Given the description of an element on the screen output the (x, y) to click on. 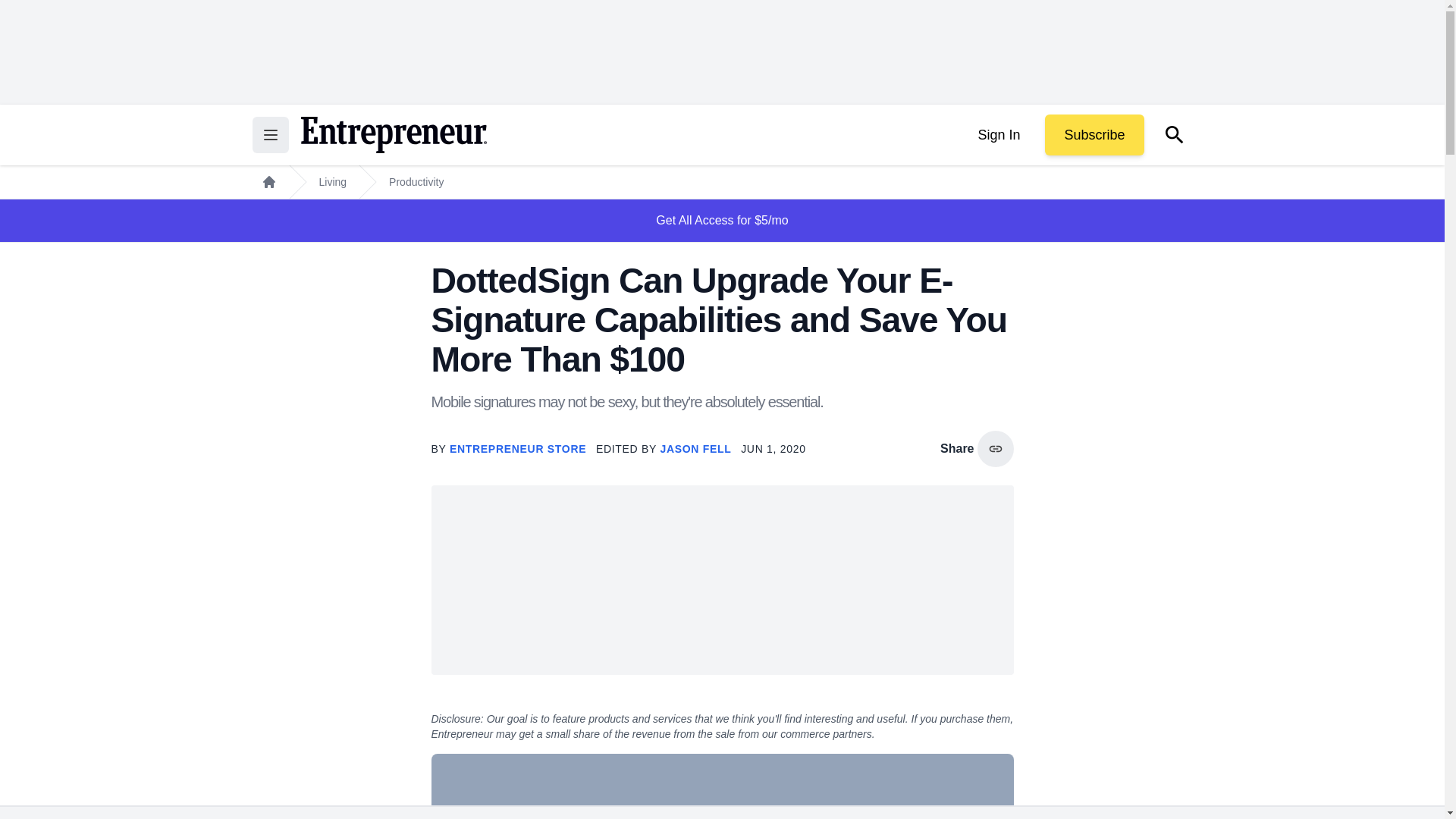
Return to the home page (392, 135)
Sign In (998, 134)
Subscribe (1093, 134)
copy (994, 448)
